Given the description of an element on the screen output the (x, y) to click on. 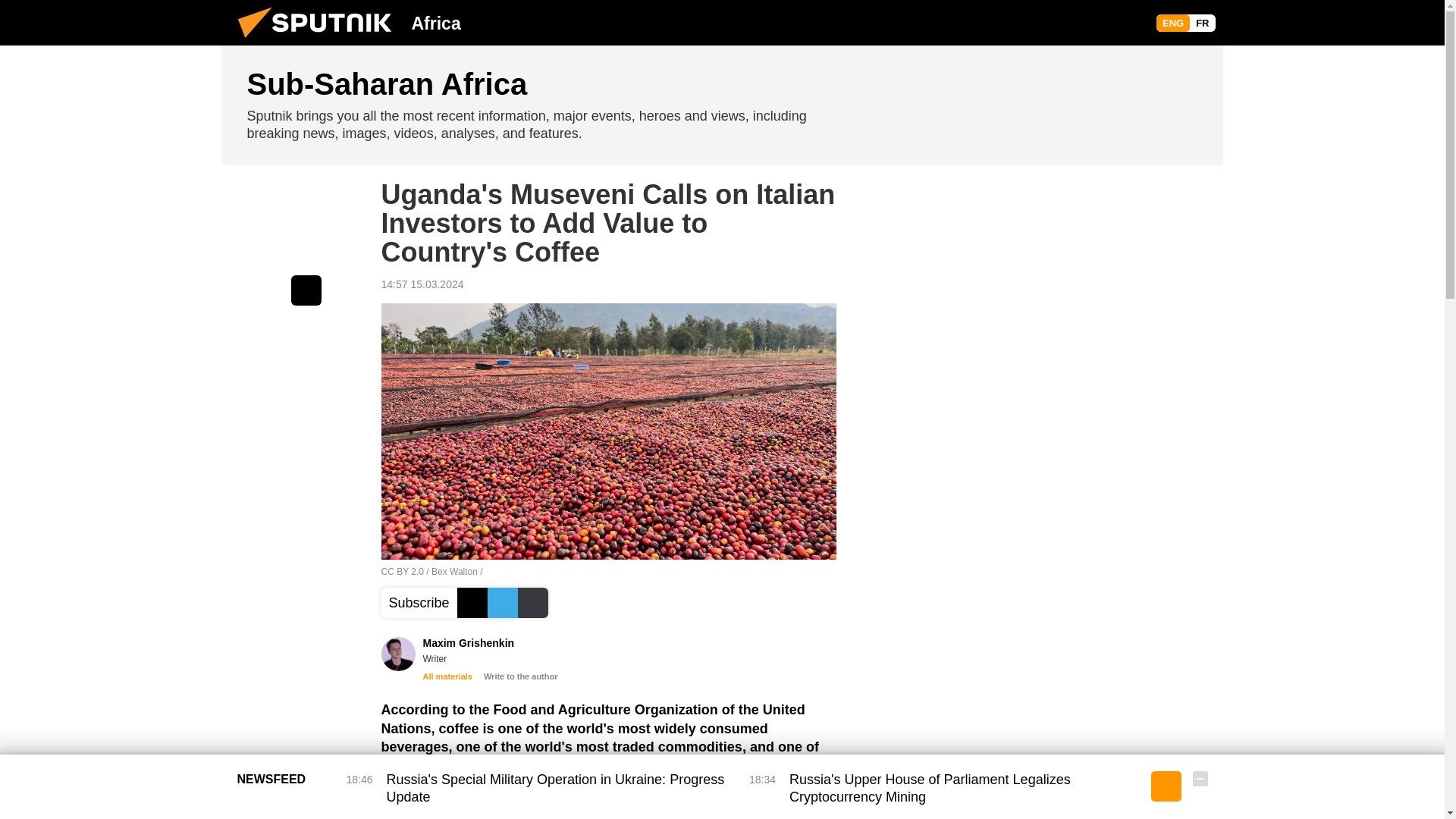
Sputnik Africa (319, 41)
ENG (1172, 22)
FR (1201, 22)
Sub-Saharan Africa (722, 105)
